Given the description of an element on the screen output the (x, y) to click on. 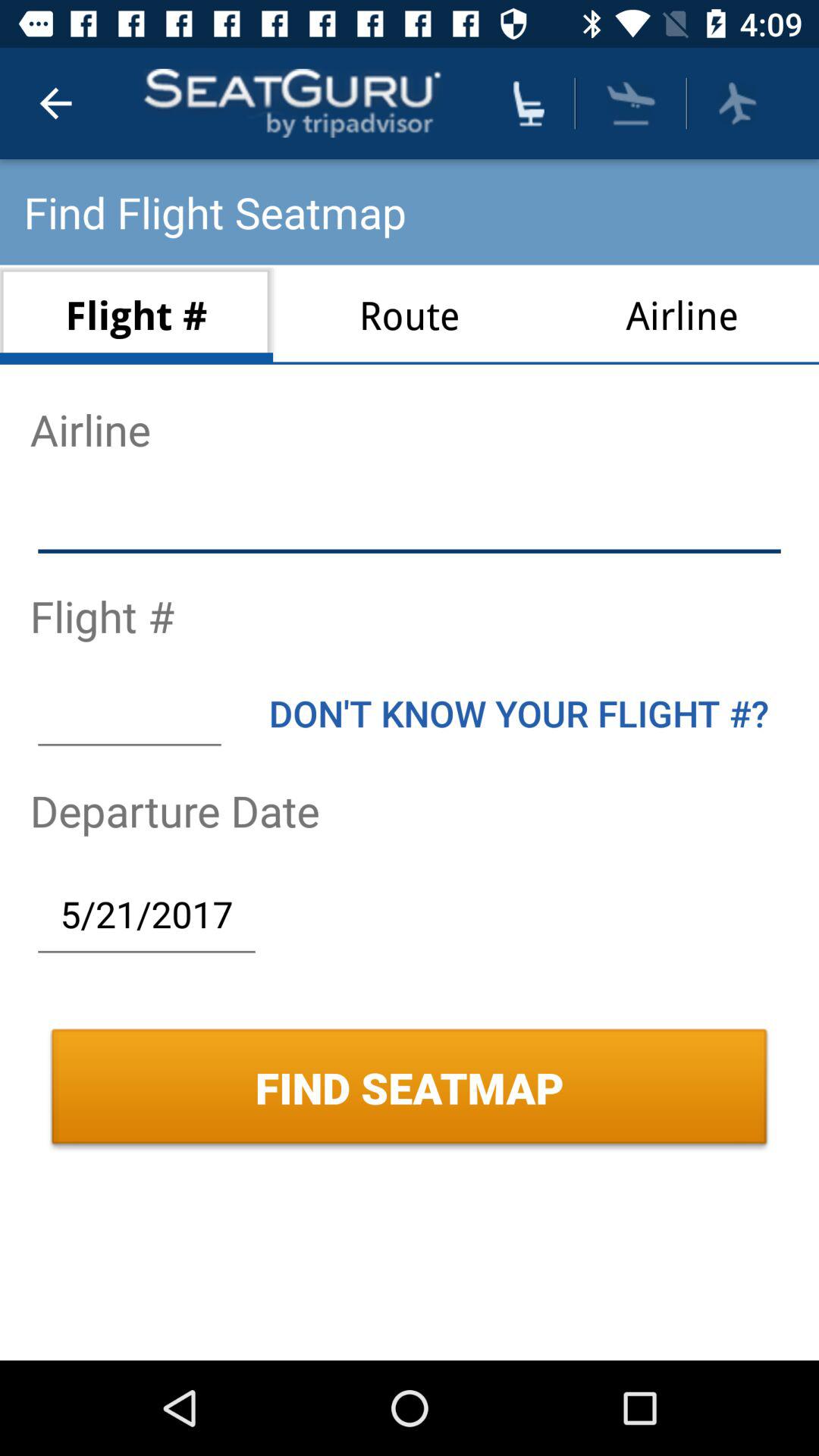
choose route (409, 314)
